Given the description of an element on the screen output the (x, y) to click on. 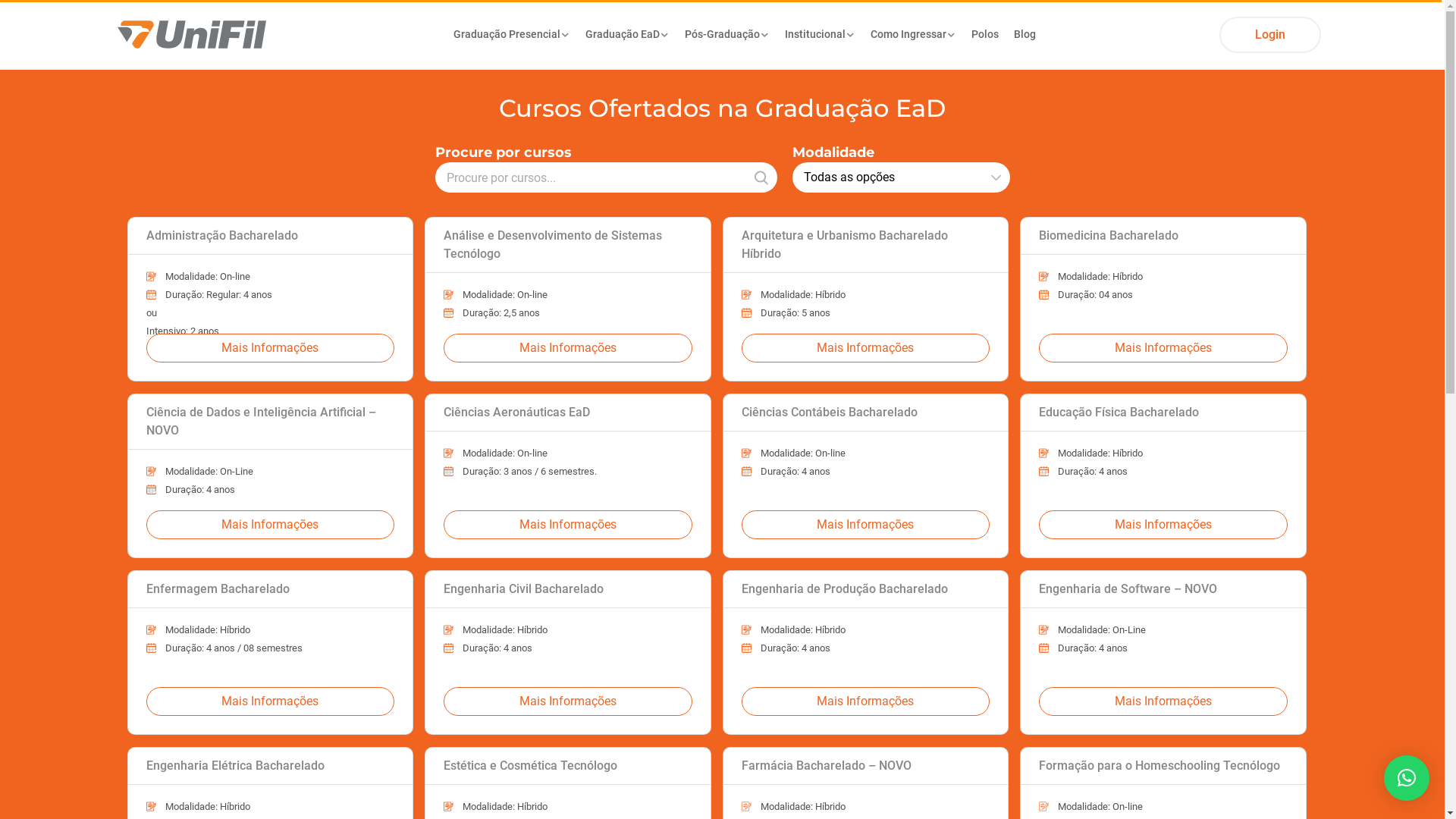
Biomedicina Bacharelado Element type: text (1162, 235)
Blog Element type: text (1024, 34)
Polos Element type: text (984, 34)
Como Ingressar Element type: text (913, 34)
Login Element type: text (1269, 34)
Engenharia Civil Bacharelado Element type: text (567, 589)
Institucional Element type: text (819, 34)
Enfermagem Bacharelado Element type: text (269, 589)
